Given the description of an element on the screen output the (x, y) to click on. 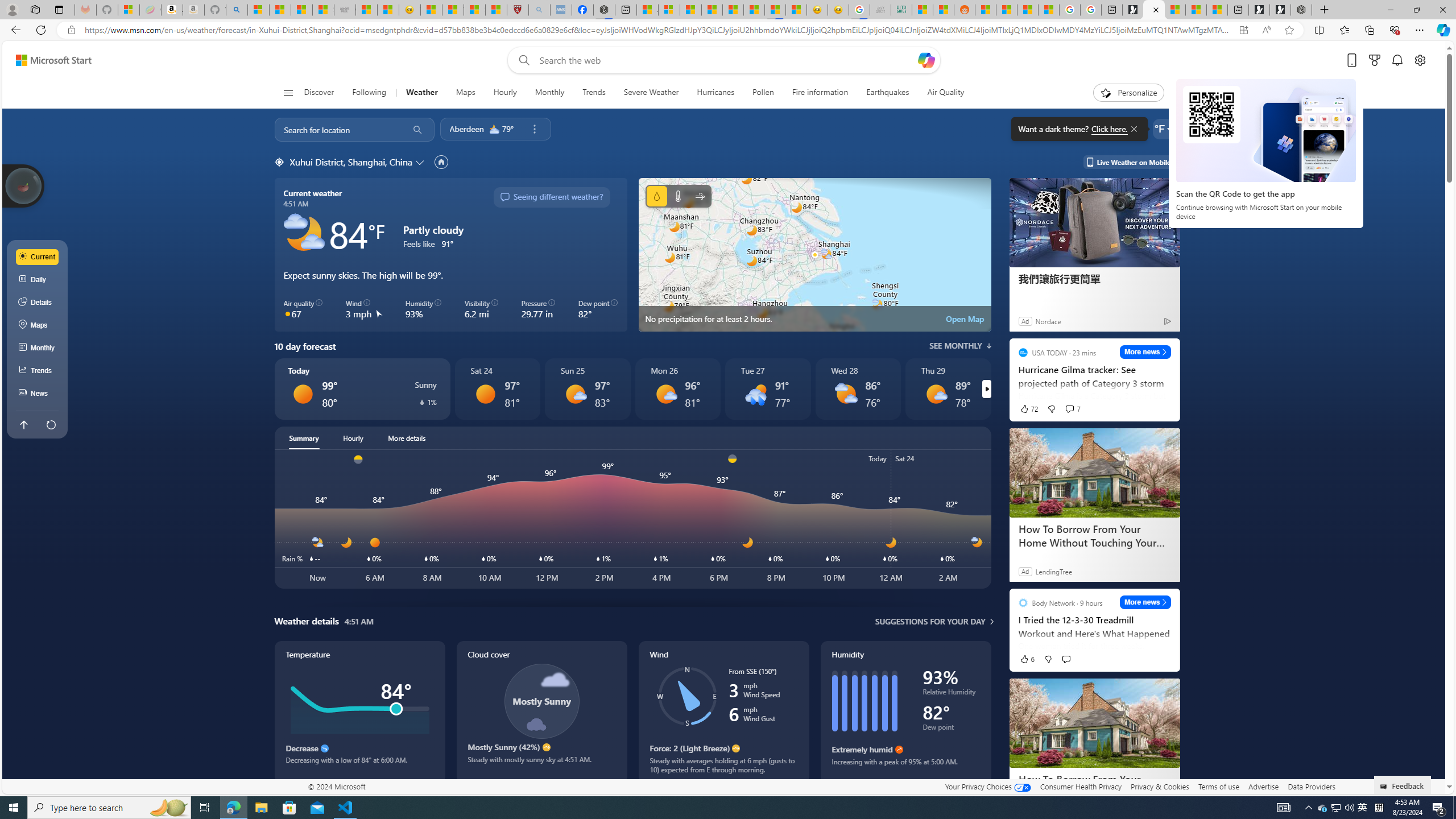
App available. Install Microsoft Start Weather (1243, 29)
Wind 3 mph (363, 309)
Change location (420, 161)
Severe Weather (650, 92)
Weather settings (1162, 128)
